Given the description of an element on the screen output the (x, y) to click on. 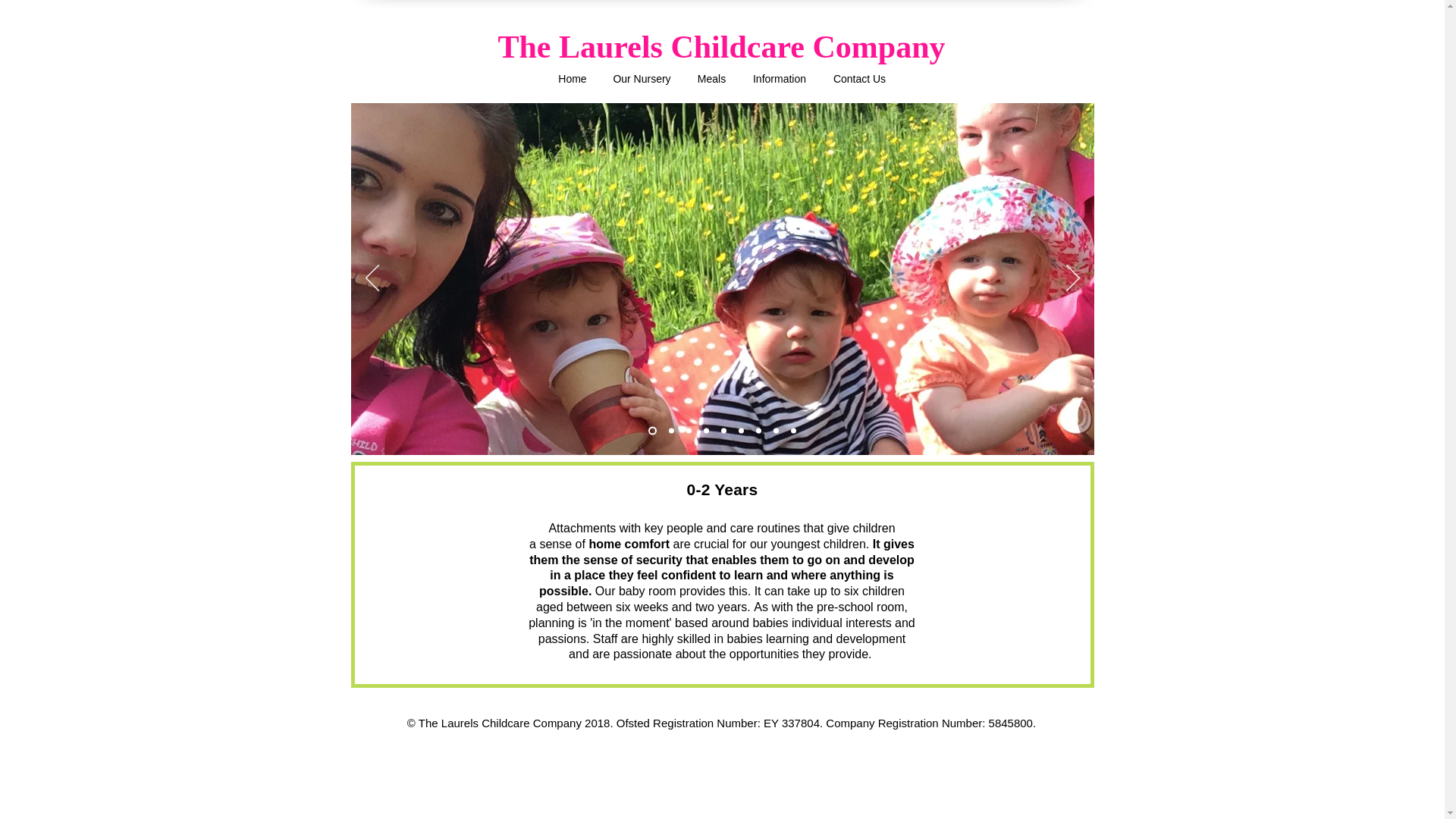
Contact Us (859, 84)
Meals (711, 84)
Home (572, 84)
